Given the description of an element on the screen output the (x, y) to click on. 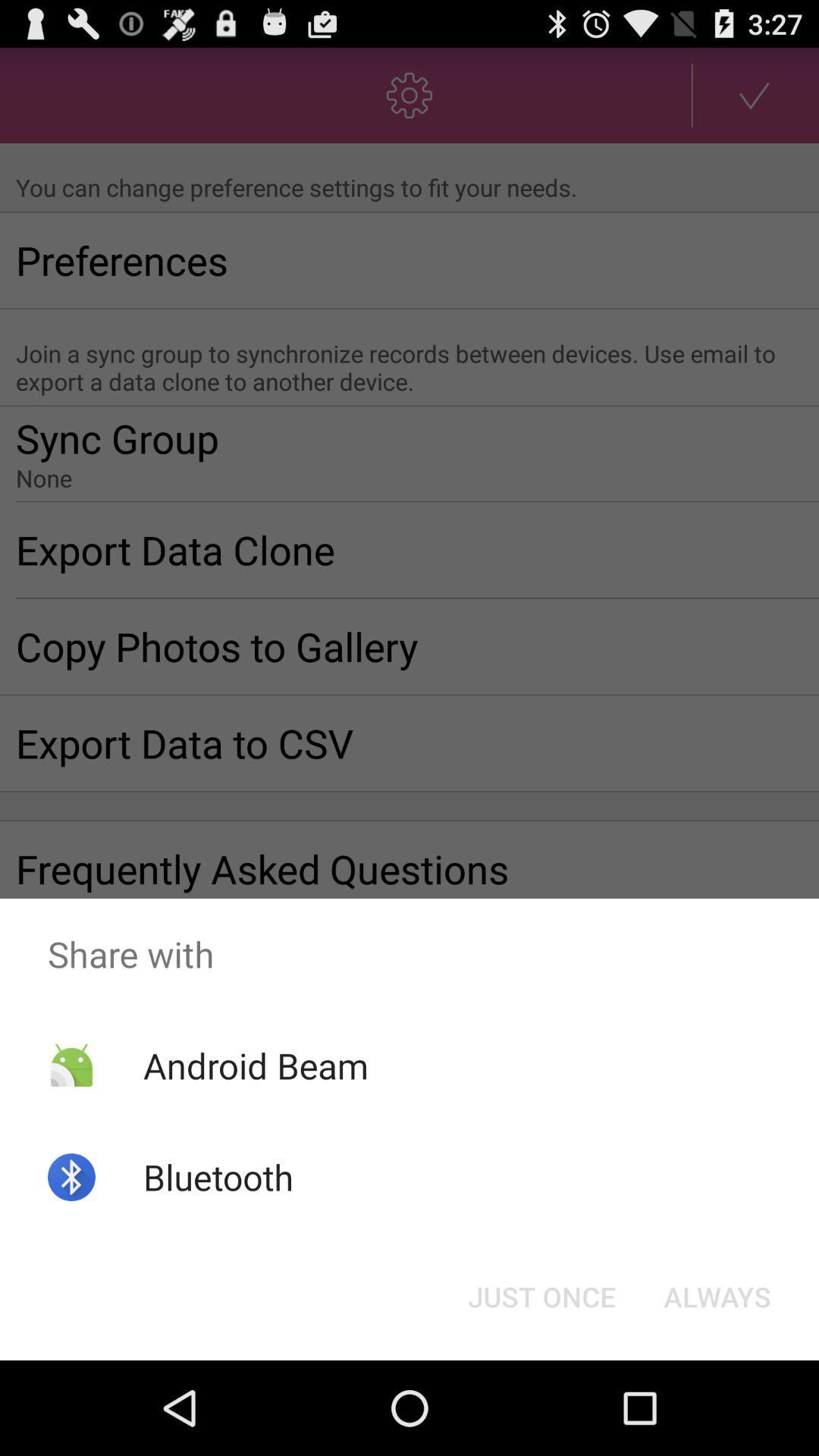
select icon below the android beam item (218, 1176)
